Given the description of an element on the screen output the (x, y) to click on. 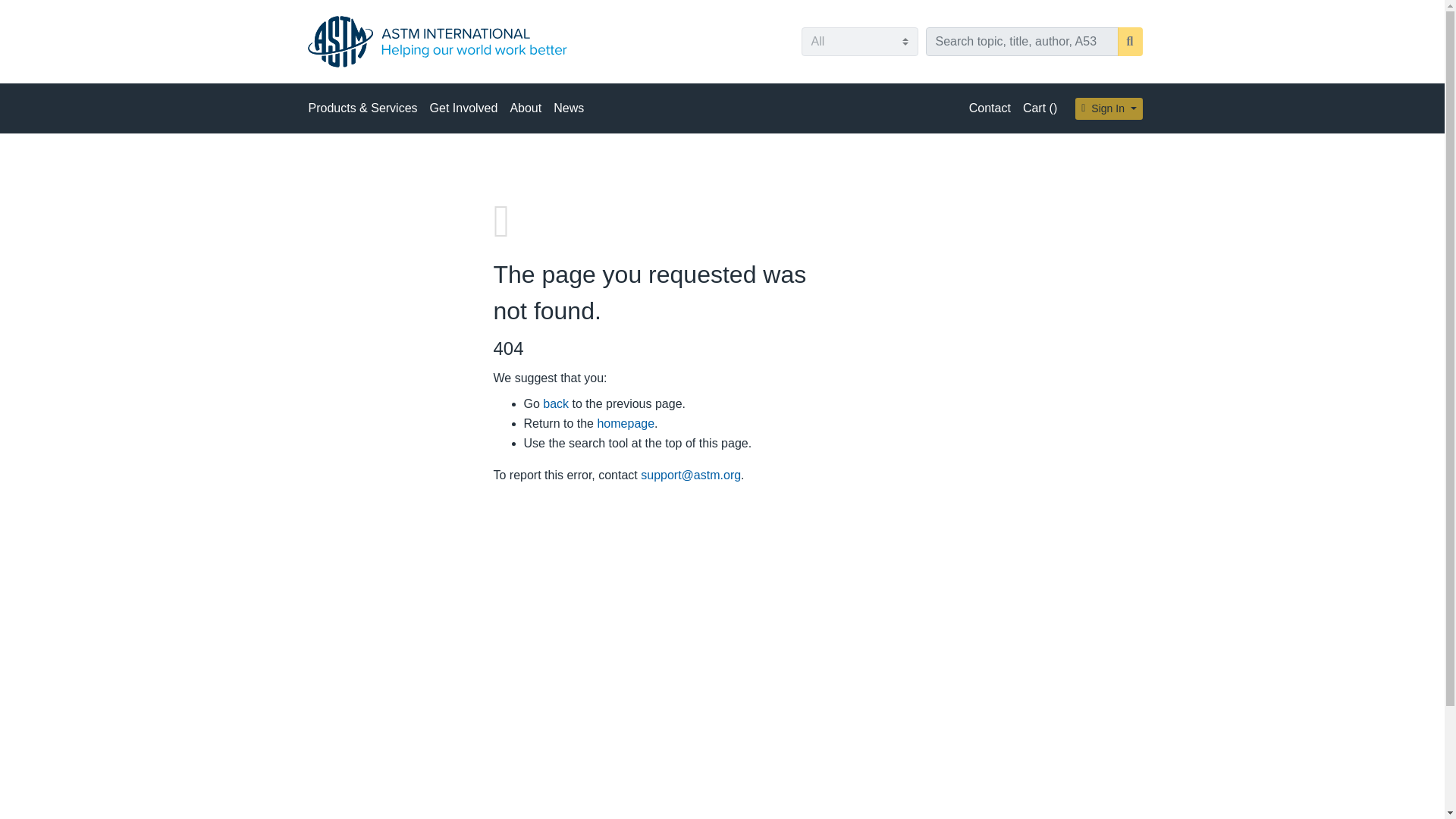
All (858, 41)
